Given the description of an element on the screen output the (x, y) to click on. 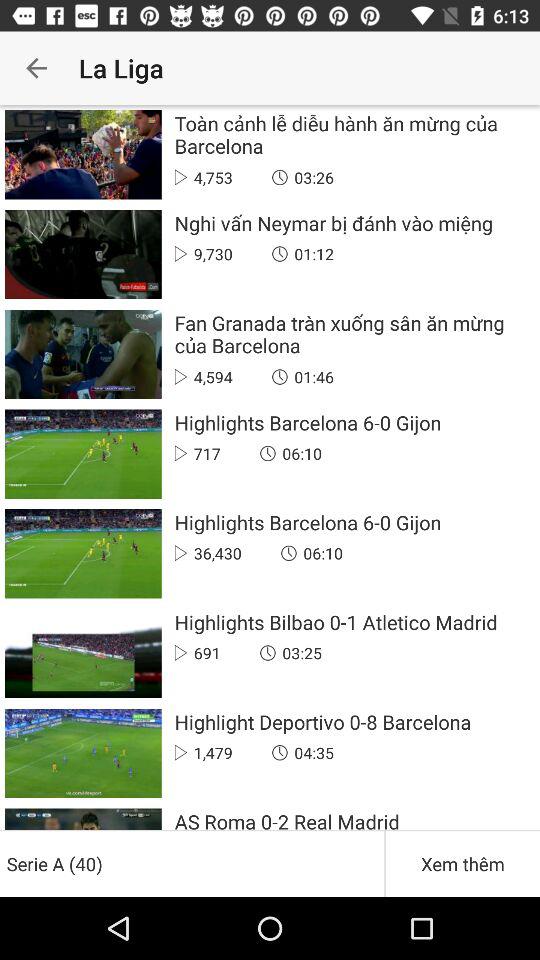
click serie a (40) item (192, 863)
